Given the description of an element on the screen output the (x, y) to click on. 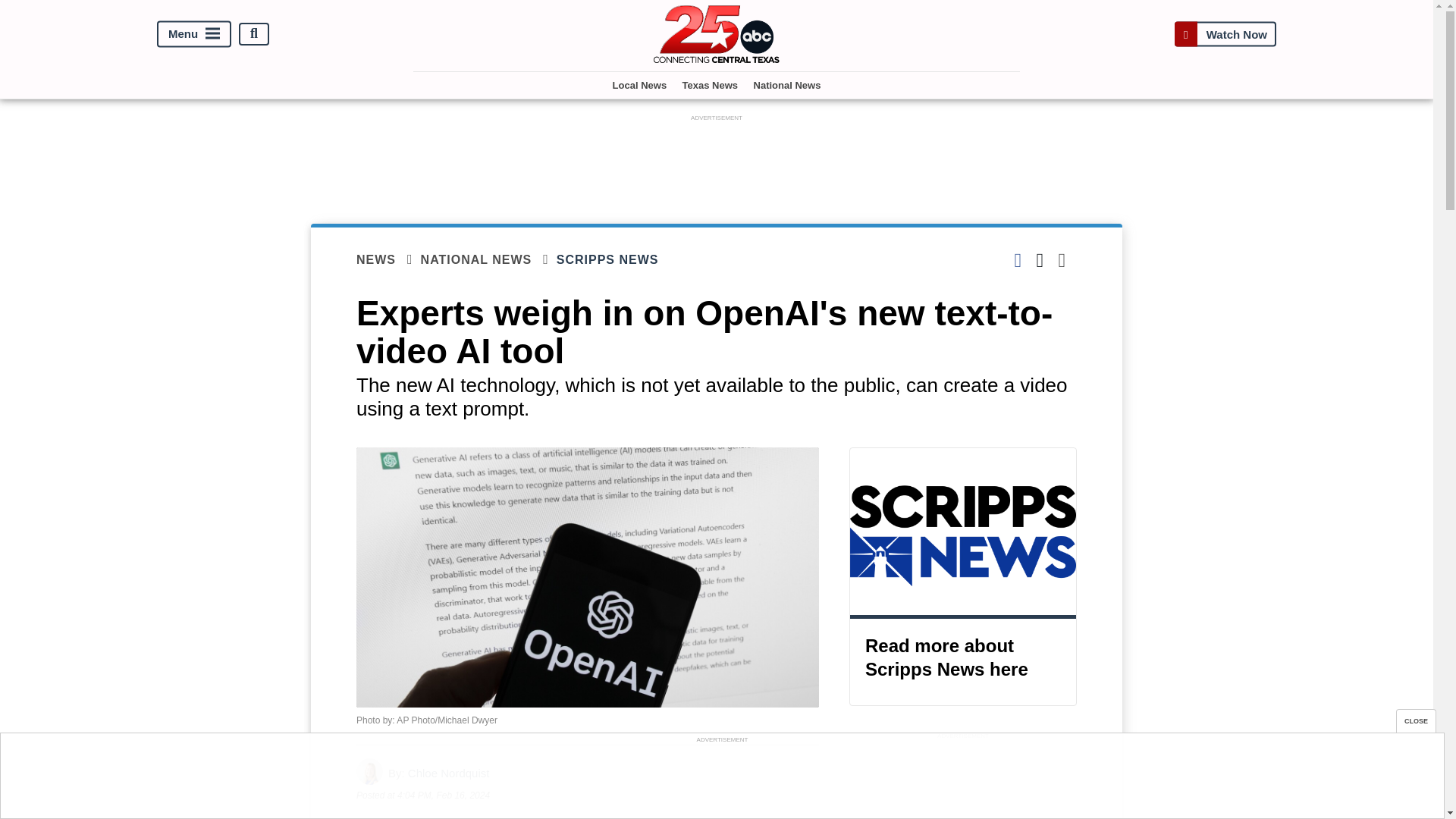
Watch Now (1224, 33)
Menu (194, 33)
3rd party ad content (962, 780)
3rd party ad content (721, 780)
3rd party ad content (716, 159)
